Given the description of an element on the screen output the (x, y) to click on. 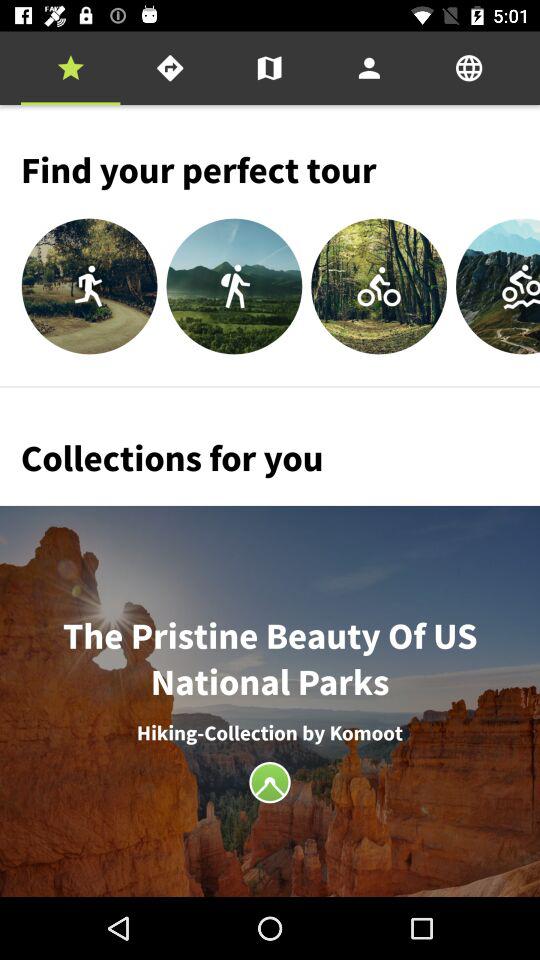
turn off the icon above find your perfect item (269, 68)
